Given the description of an element on the screen output the (x, y) to click on. 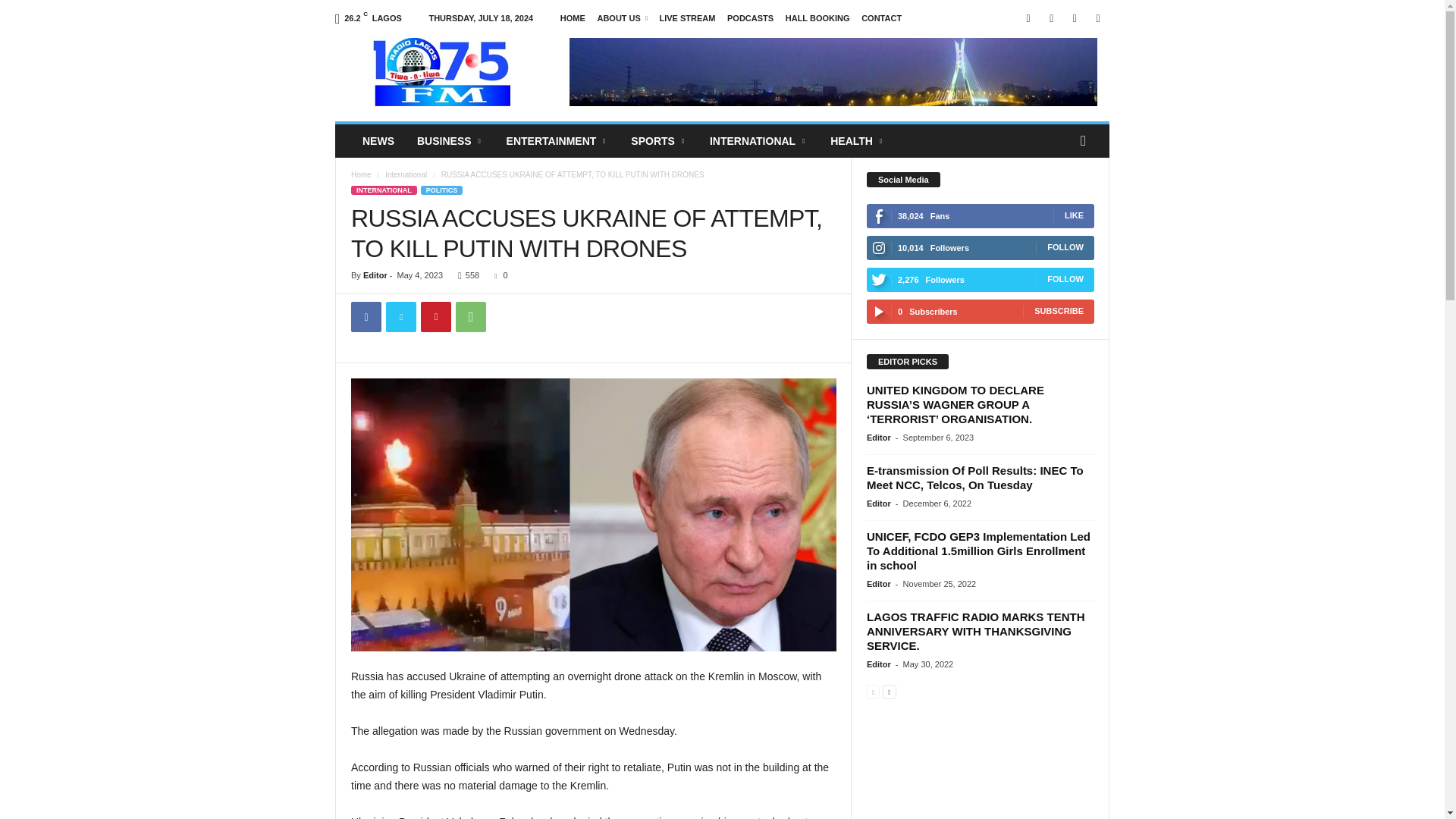
BUSINESS (450, 141)
PODCASTS (749, 17)
Radio Lagos 107.5FM (437, 71)
ABOUT US (621, 17)
Twitter (1074, 18)
CONTACT (881, 17)
LIVE STREAM (686, 17)
HALL BOOKING (818, 17)
Instagram (1051, 18)
Youtube (1097, 18)
NEWS (378, 141)
Facebook (1027, 18)
HOME (572, 17)
